Given the description of an element on the screen output the (x, y) to click on. 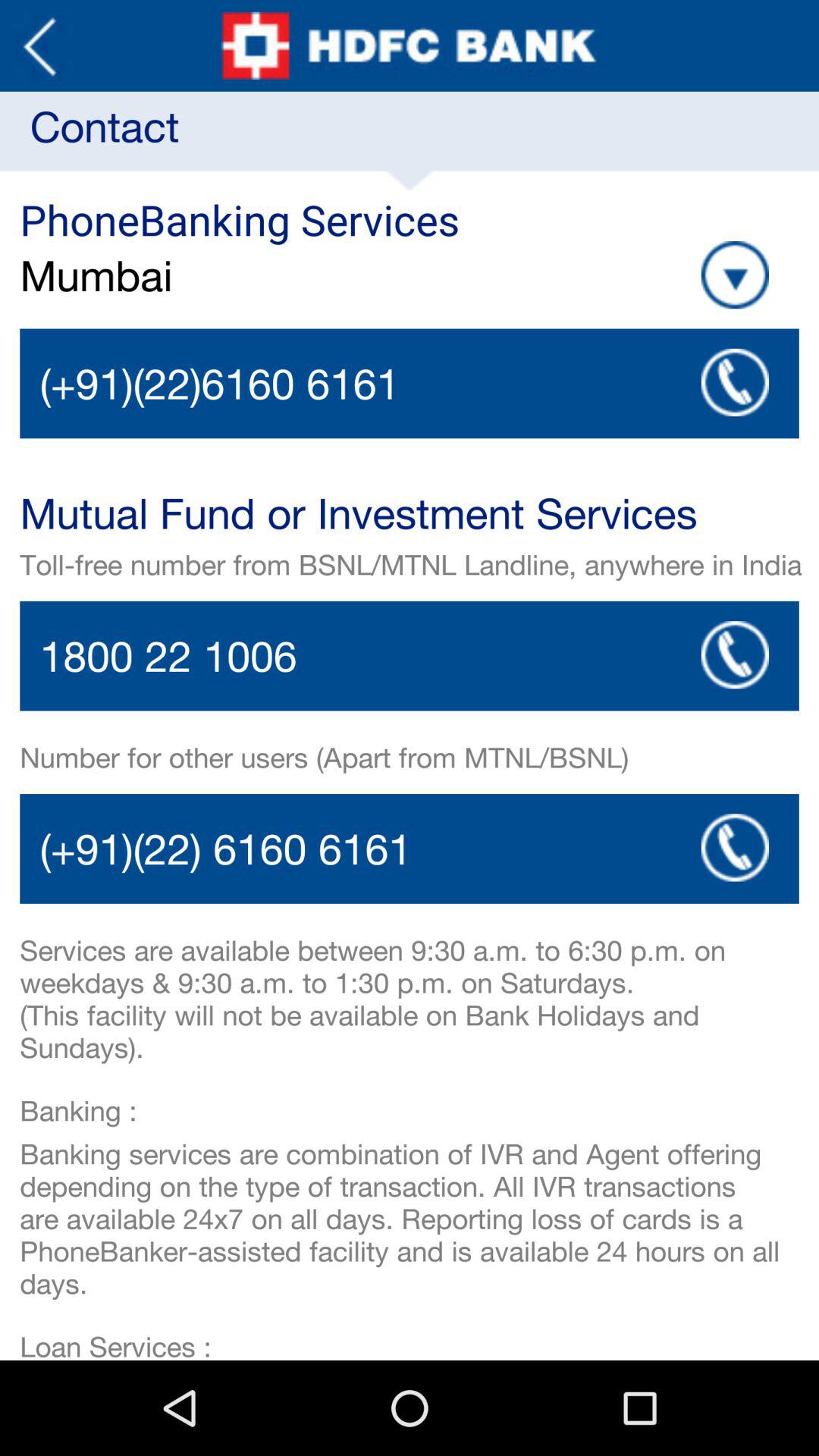
call the listed number (734, 847)
